Given the description of an element on the screen output the (x, y) to click on. 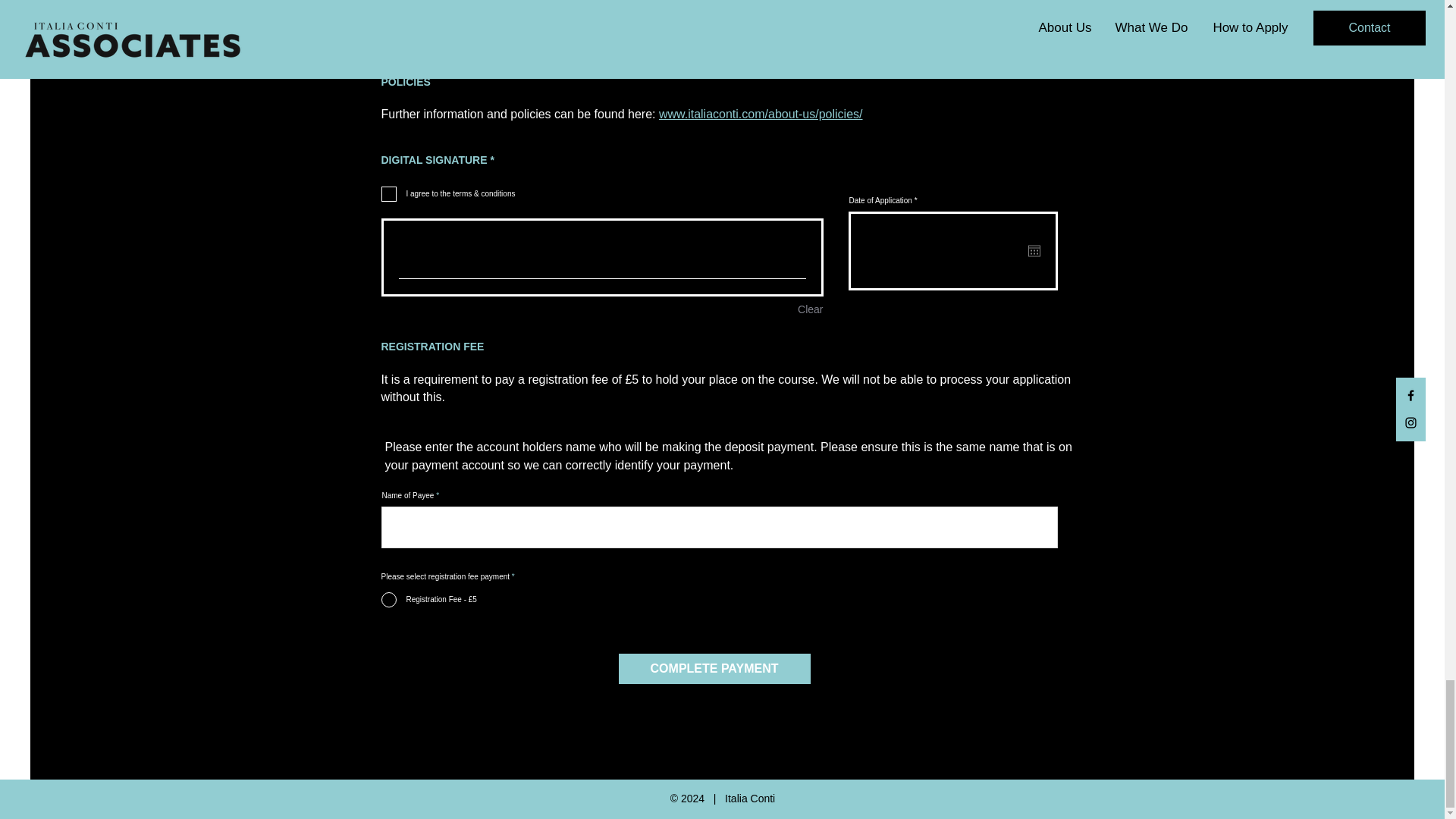
COMPLETE PAYMENT (714, 668)
Clear (809, 309)
